Given the description of an element on the screen output the (x, y) to click on. 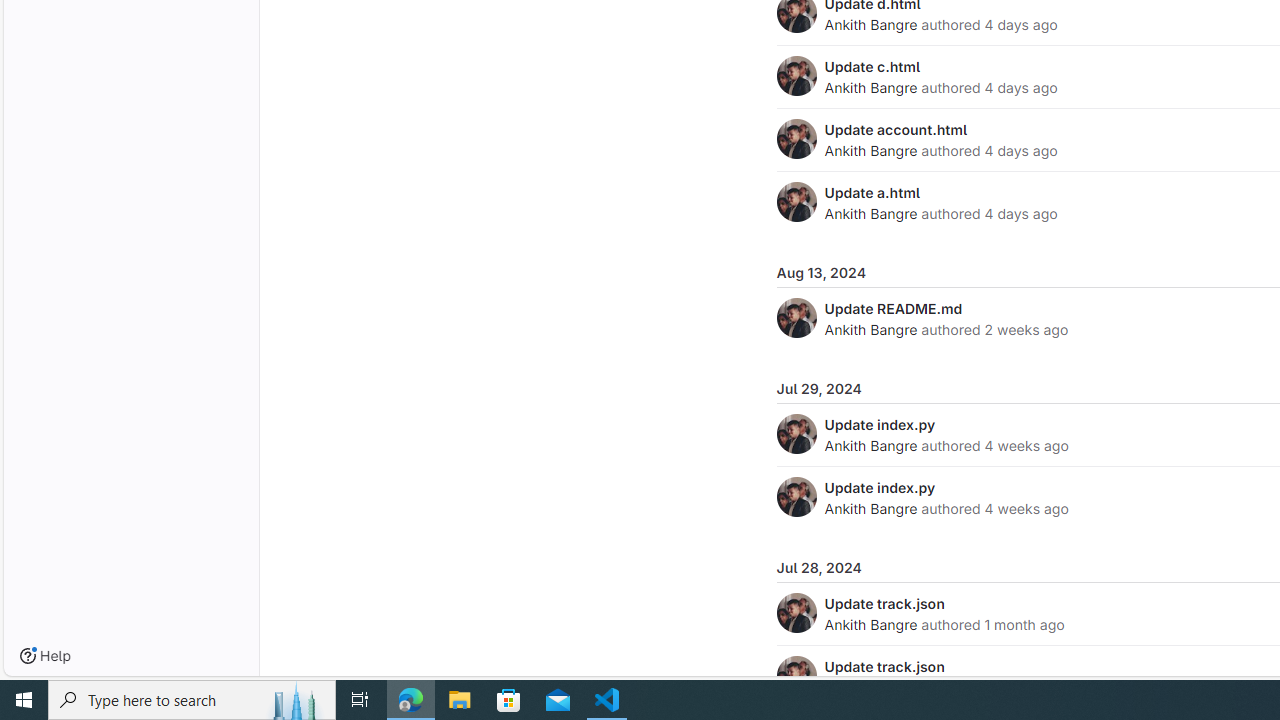
Ankith Bangre's avatar (795, 675)
Ankith Bangre's avatar (795, 675)
Update c.html (872, 66)
Update account.html (895, 129)
Update track.json (884, 666)
Update README.md (893, 308)
Ankith Bangre (870, 624)
Update a.html (872, 192)
Update index.py (879, 487)
Help (45, 655)
